Given the description of an element on the screen output the (x, y) to click on. 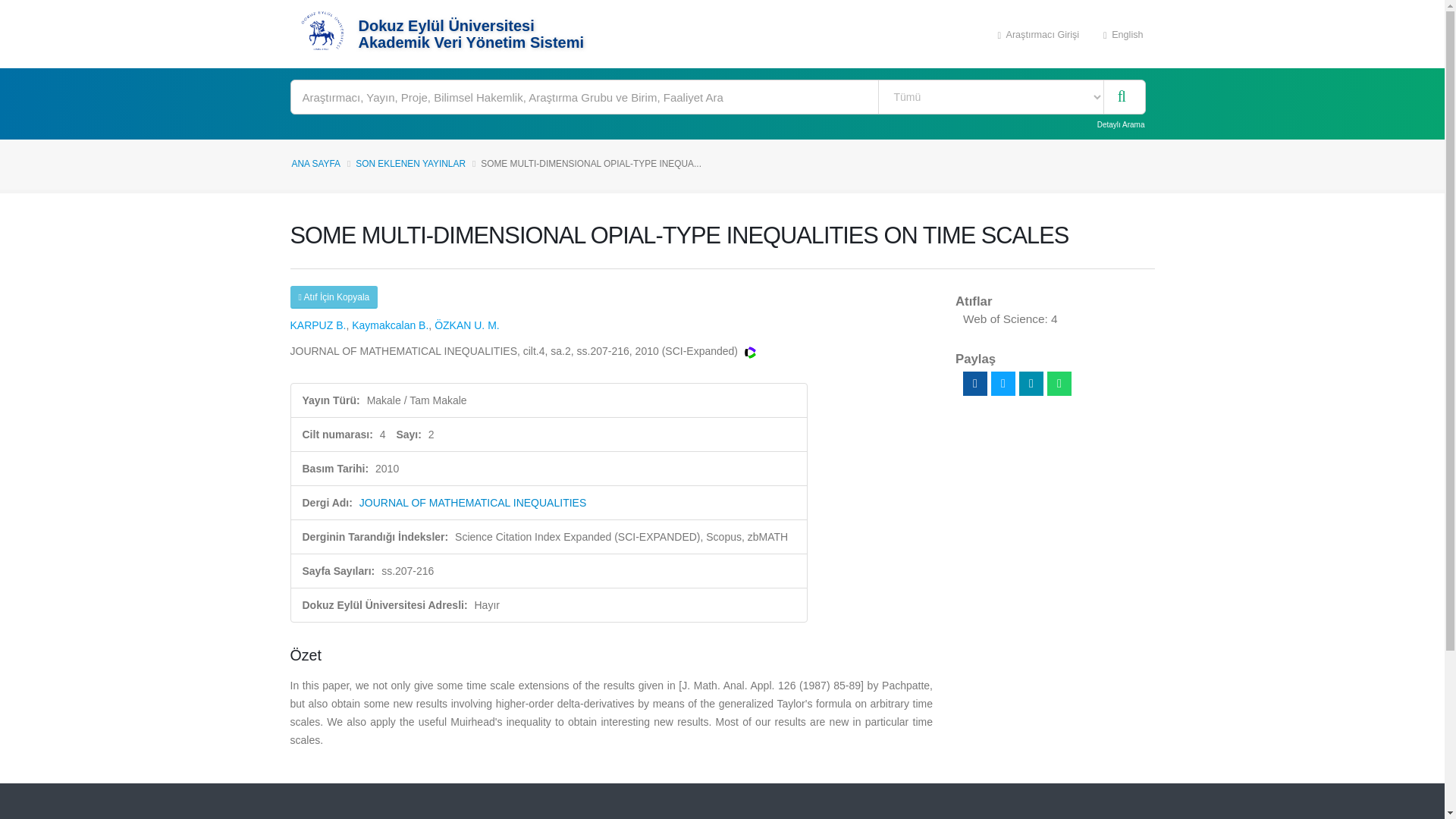
JOURNAL OF MATHEMATICAL INEQUALITIES (472, 502)
KARPUZ B. (317, 325)
Billur Kaymakcalan (390, 325)
ANA SAYFA (315, 163)
Kaymakcalan B. (390, 325)
English (1123, 33)
SON EKLENEN YAYINLAR (410, 163)
